Given the description of an element on the screen output the (x, y) to click on. 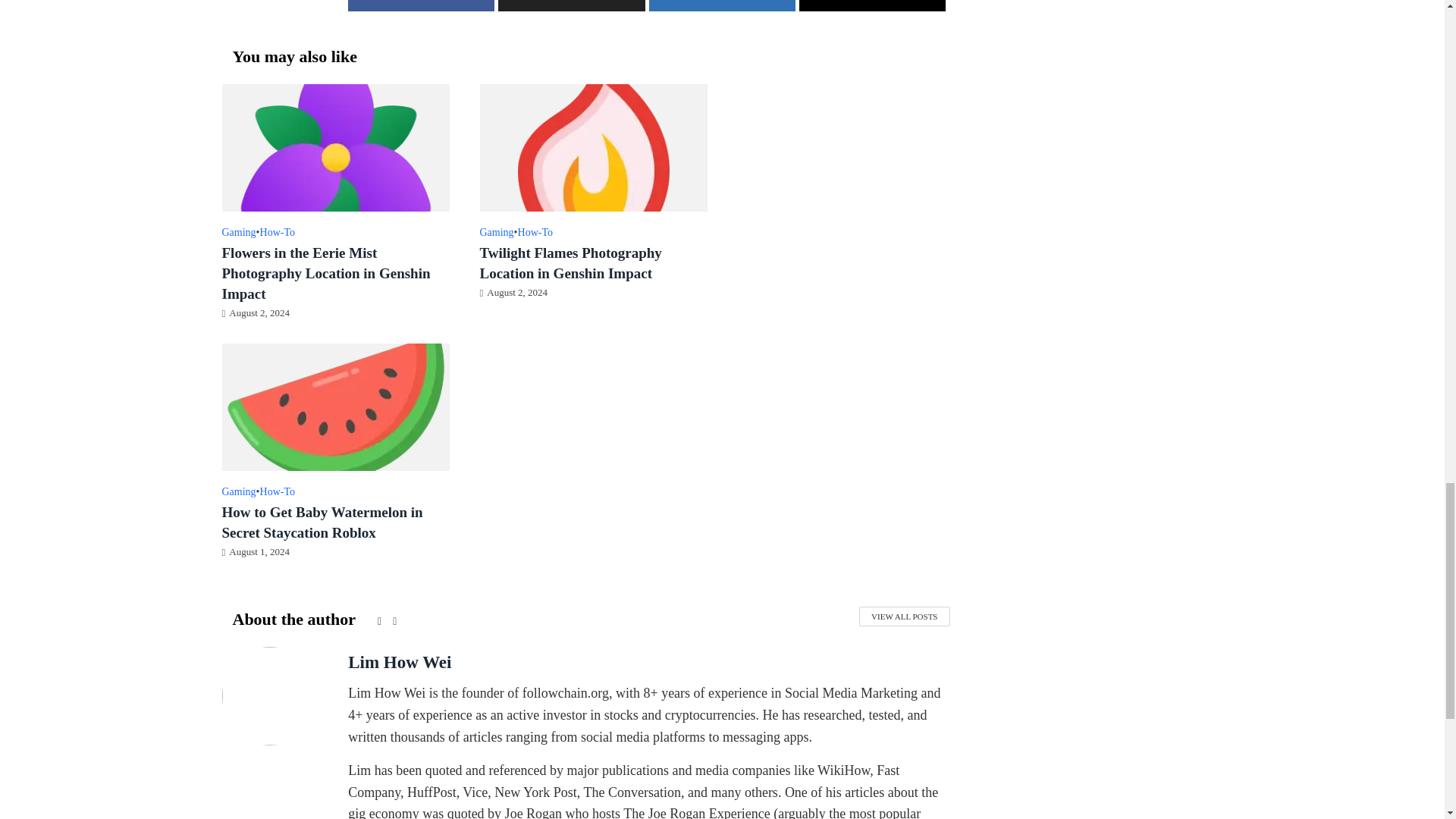
How to Get Baby Watermelon in Secret Staycation Roblox (334, 405)
Twilight Flames Photography Location in Genshin Impact (592, 145)
